Given the description of an element on the screen output the (x, y) to click on. 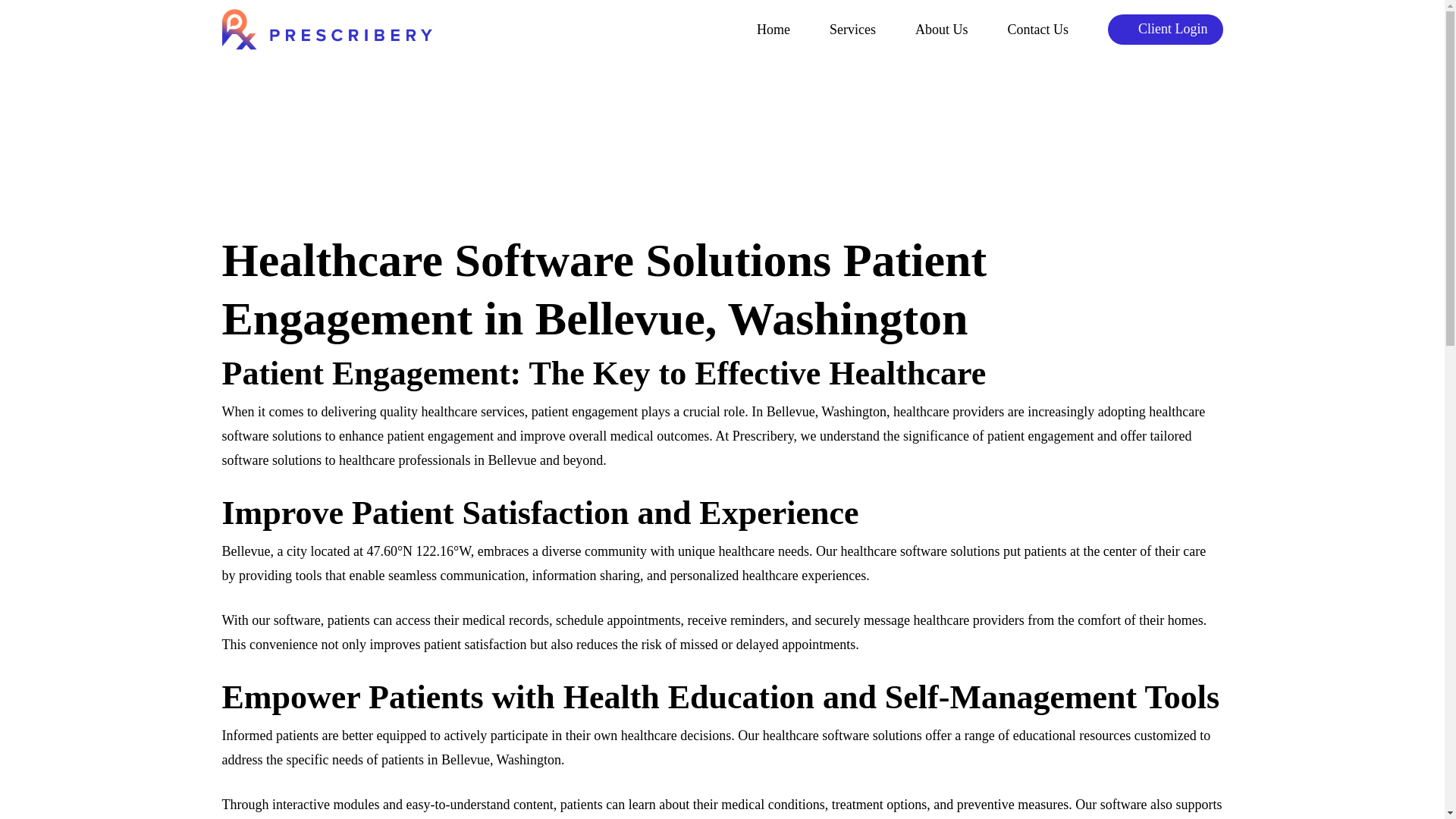
Contact Us (1037, 29)
About Us (941, 29)
Home (773, 29)
Client Login (1165, 29)
Services (852, 29)
